Given the description of an element on the screen output the (x, y) to click on. 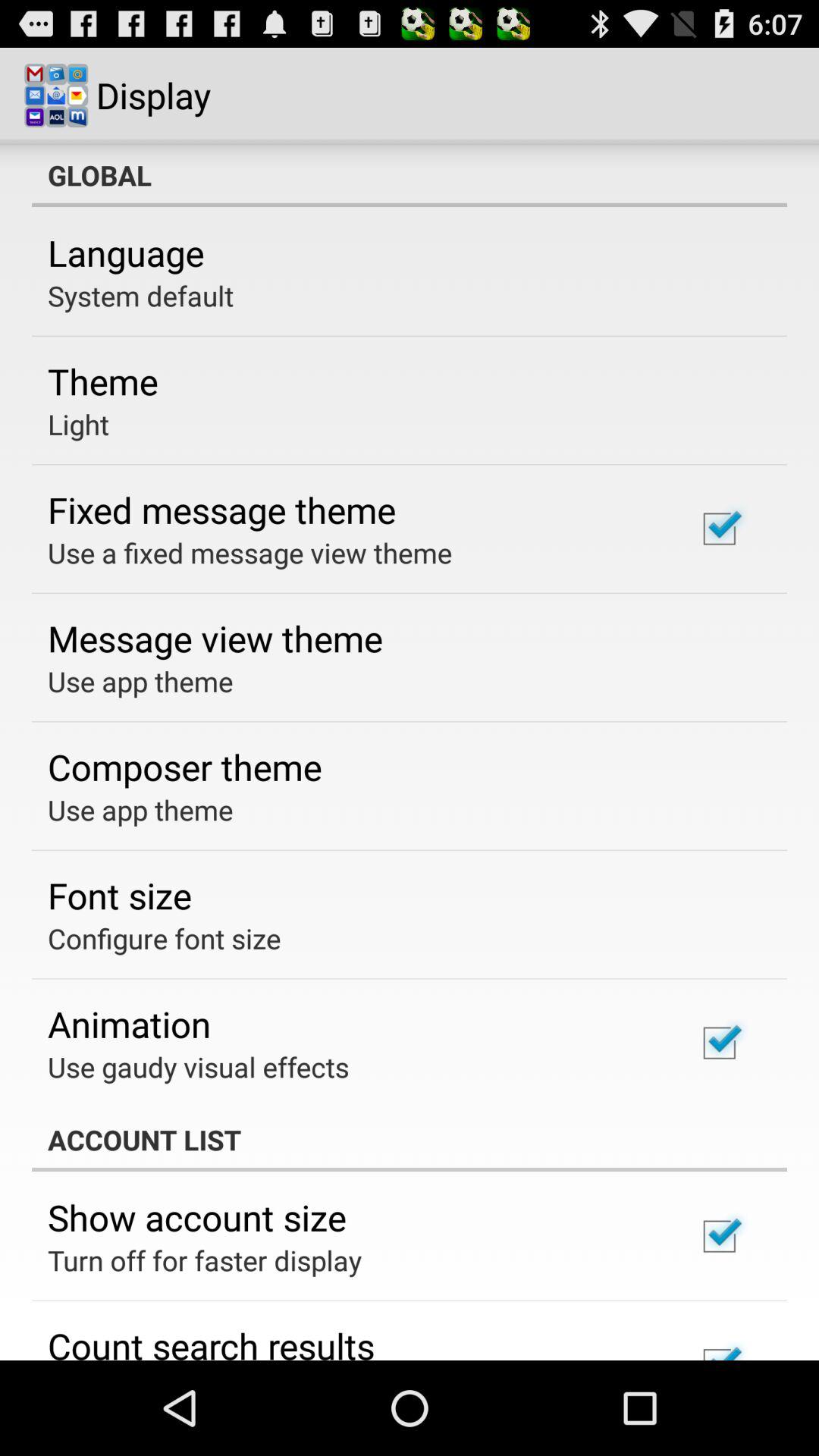
jump to show account size (196, 1217)
